Given the description of an element on the screen output the (x, y) to click on. 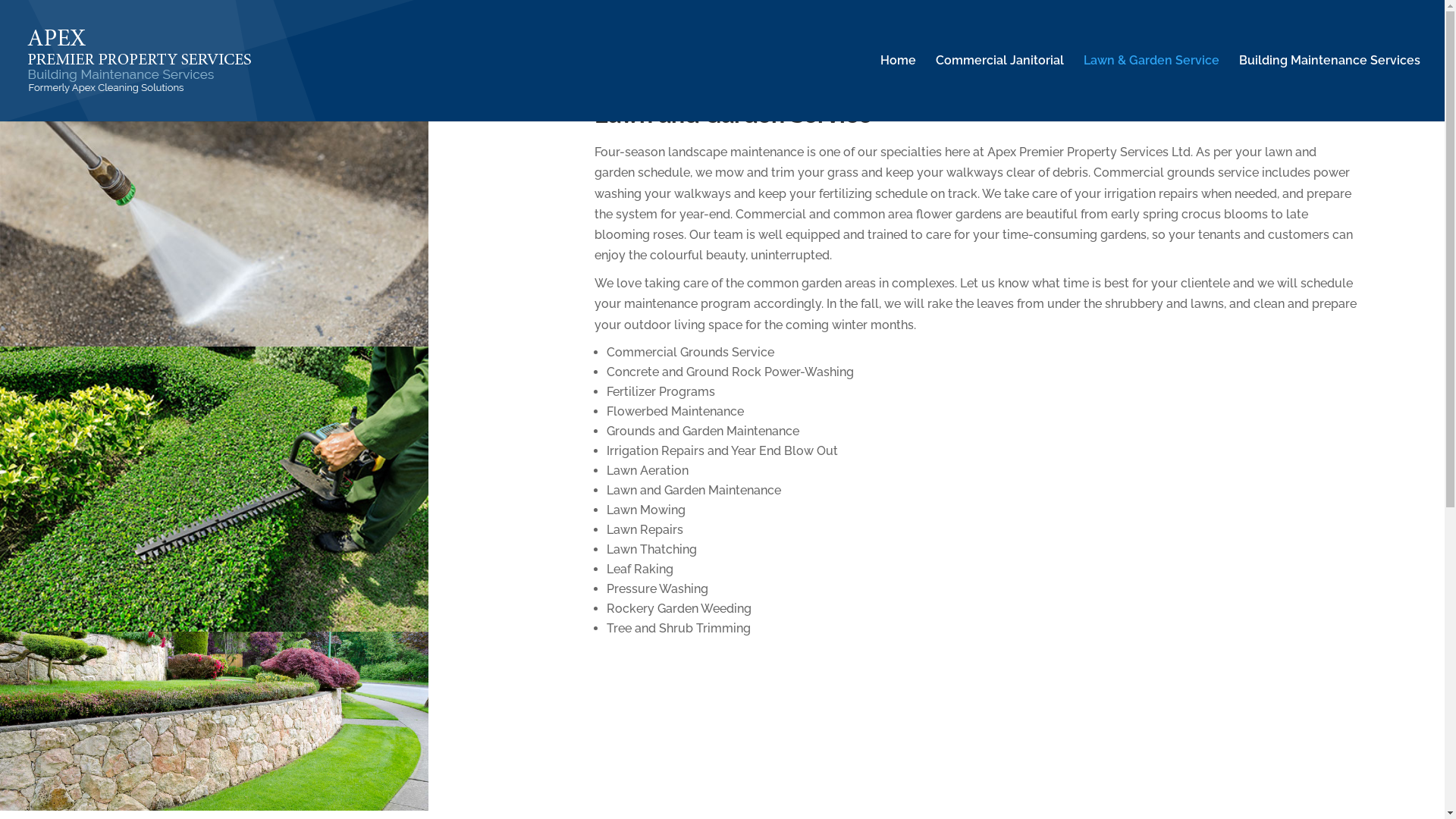
slide5 Element type: hover (214, 720)
Lawn & Garden Service Element type: text (1151, 88)
apex004 Element type: hover (214, 488)
Building Maintenance Services Element type: text (1329, 88)
services_001 Element type: hover (214, 203)
Commercial Janitorial Element type: text (999, 88)
Home Element type: text (898, 88)
